Given the description of an element on the screen output the (x, y) to click on. 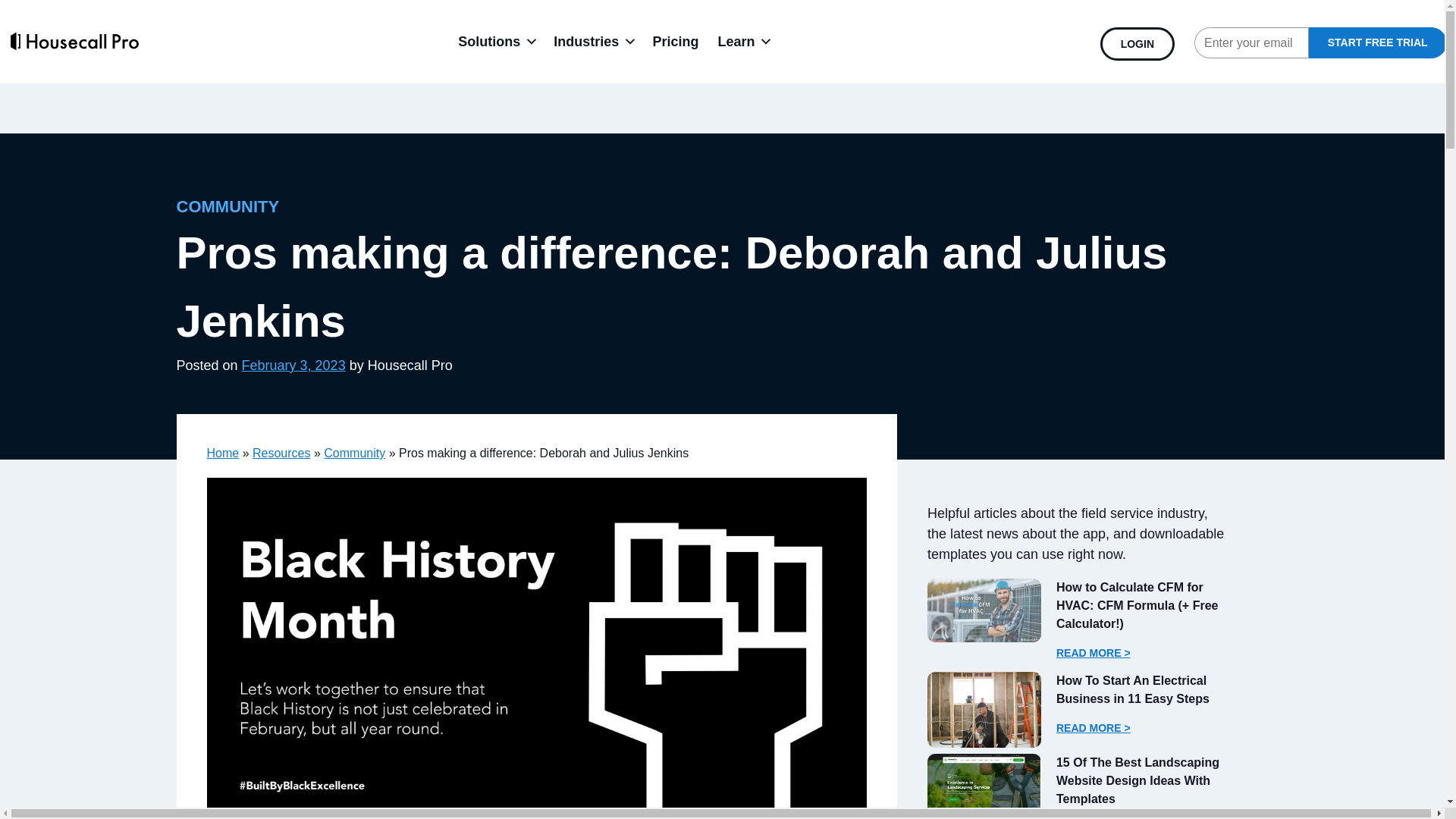
Home (222, 452)
 - Housecall Pro (984, 709)
 - Housecall Pro (984, 610)
Community (354, 452)
 - Housecall Pro (984, 785)
Resources (280, 452)
